Given the description of an element on the screen output the (x, y) to click on. 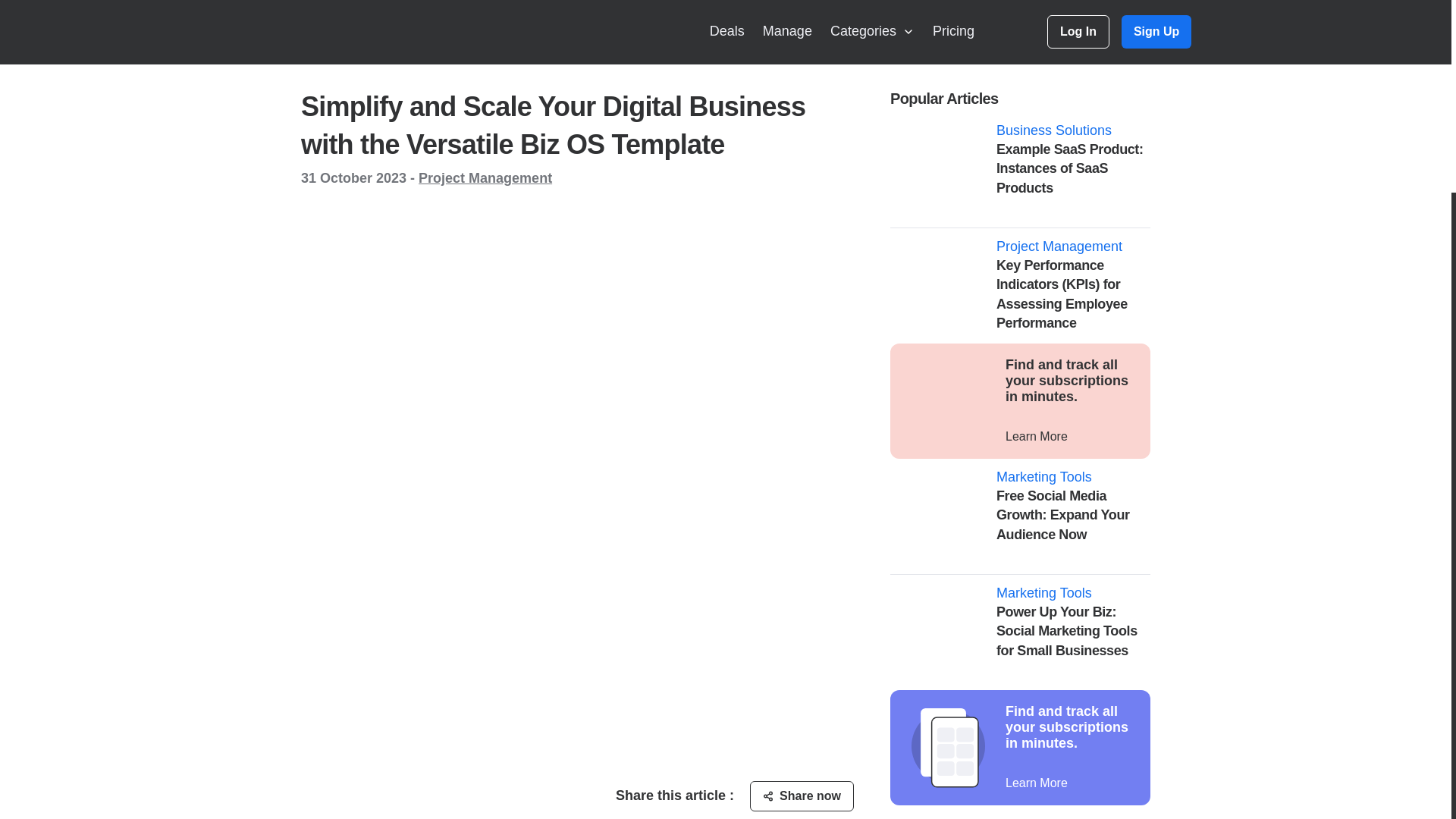
Manage (787, 31)
Categories (871, 31)
Example SaaS Product: Instances of SaaS Products (1019, 169)
Pricing (953, 31)
Free Social Media Growth: Expand Your Audience Now (1019, 516)
